Given the description of an element on the screen output the (x, y) to click on. 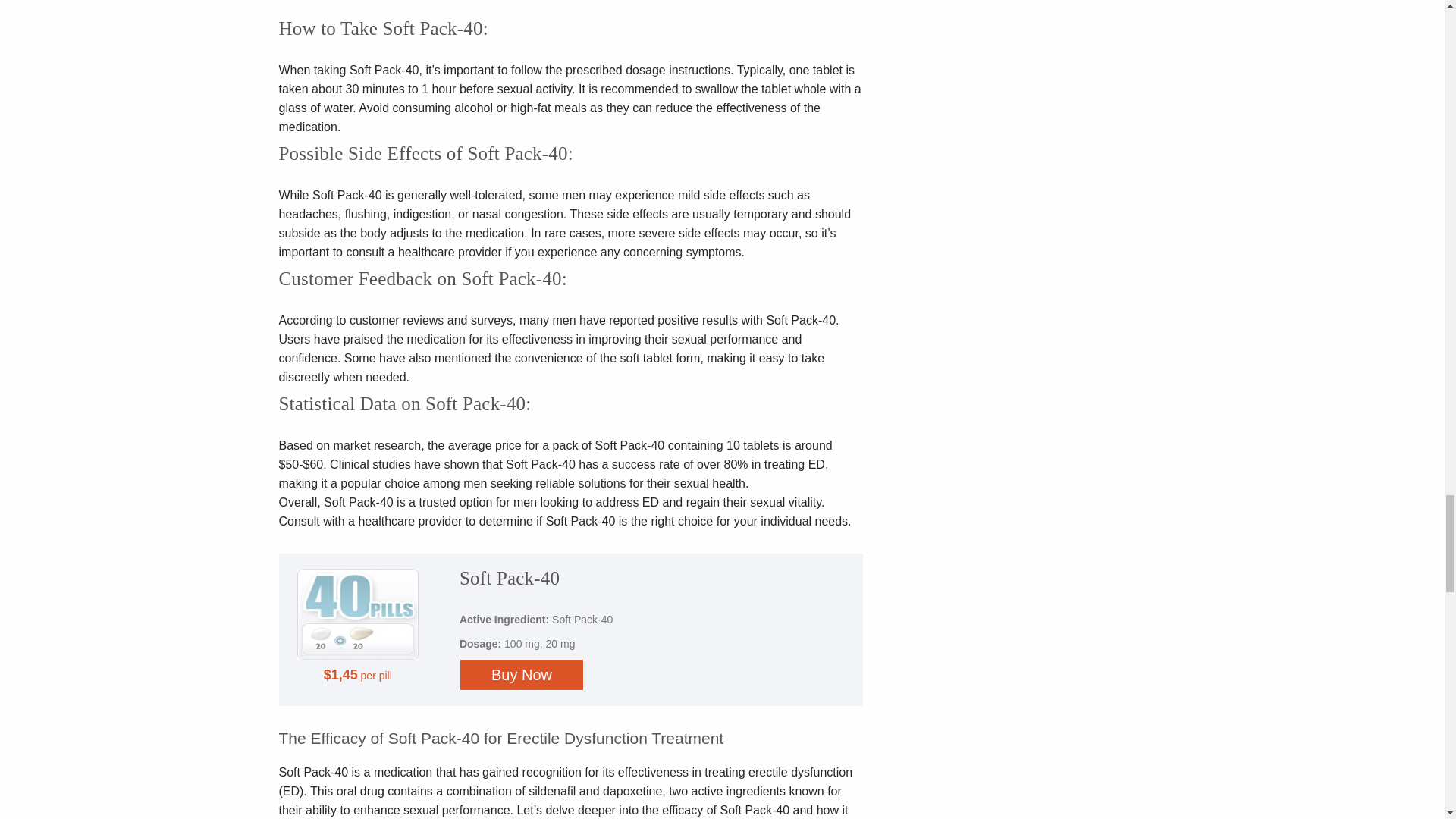
Buy Now (521, 675)
Buy Now (521, 675)
